Given the description of an element on the screen output the (x, y) to click on. 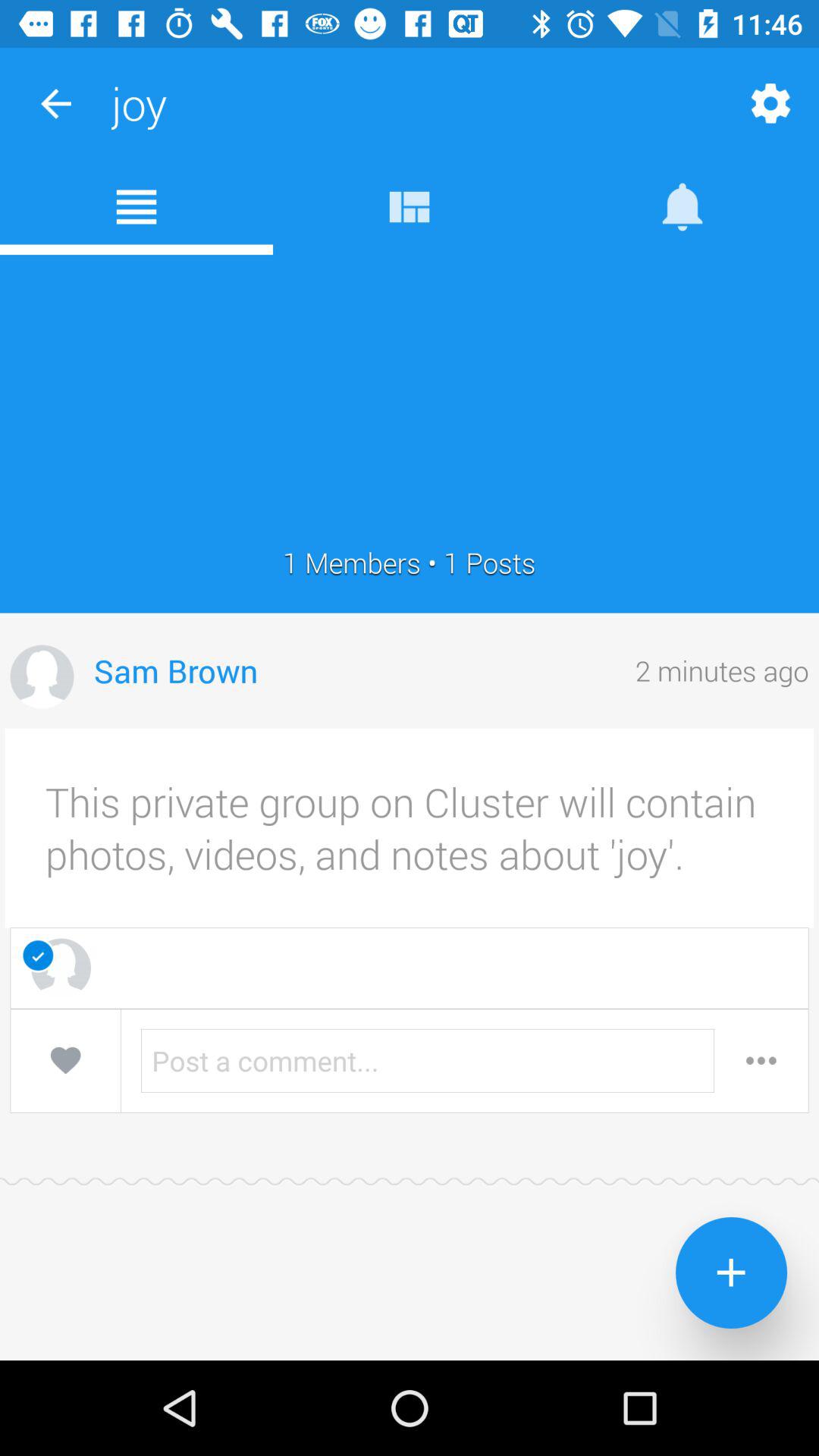
go to options (761, 1060)
